Given the description of an element on the screen output the (x, y) to click on. 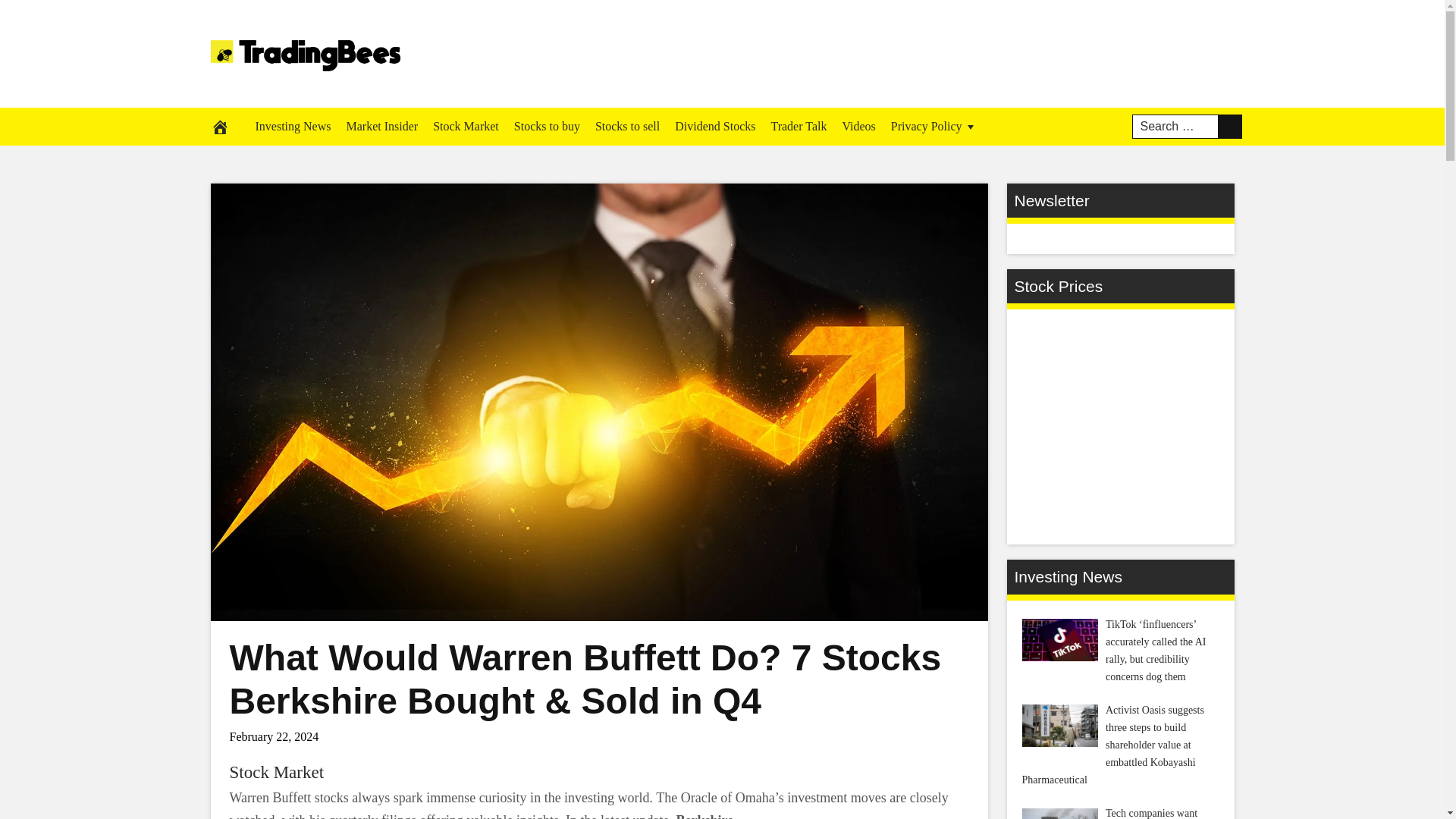
Stock Market (465, 126)
Stock Market (275, 772)
Dividend Stocks (714, 126)
Videos (858, 126)
Investing News (292, 126)
Market Insider (381, 126)
Stocks to sell (627, 126)
Trader Talk (798, 126)
Privacy Policy (934, 126)
Stocks to buy (547, 126)
